Given the description of an element on the screen output the (x, y) to click on. 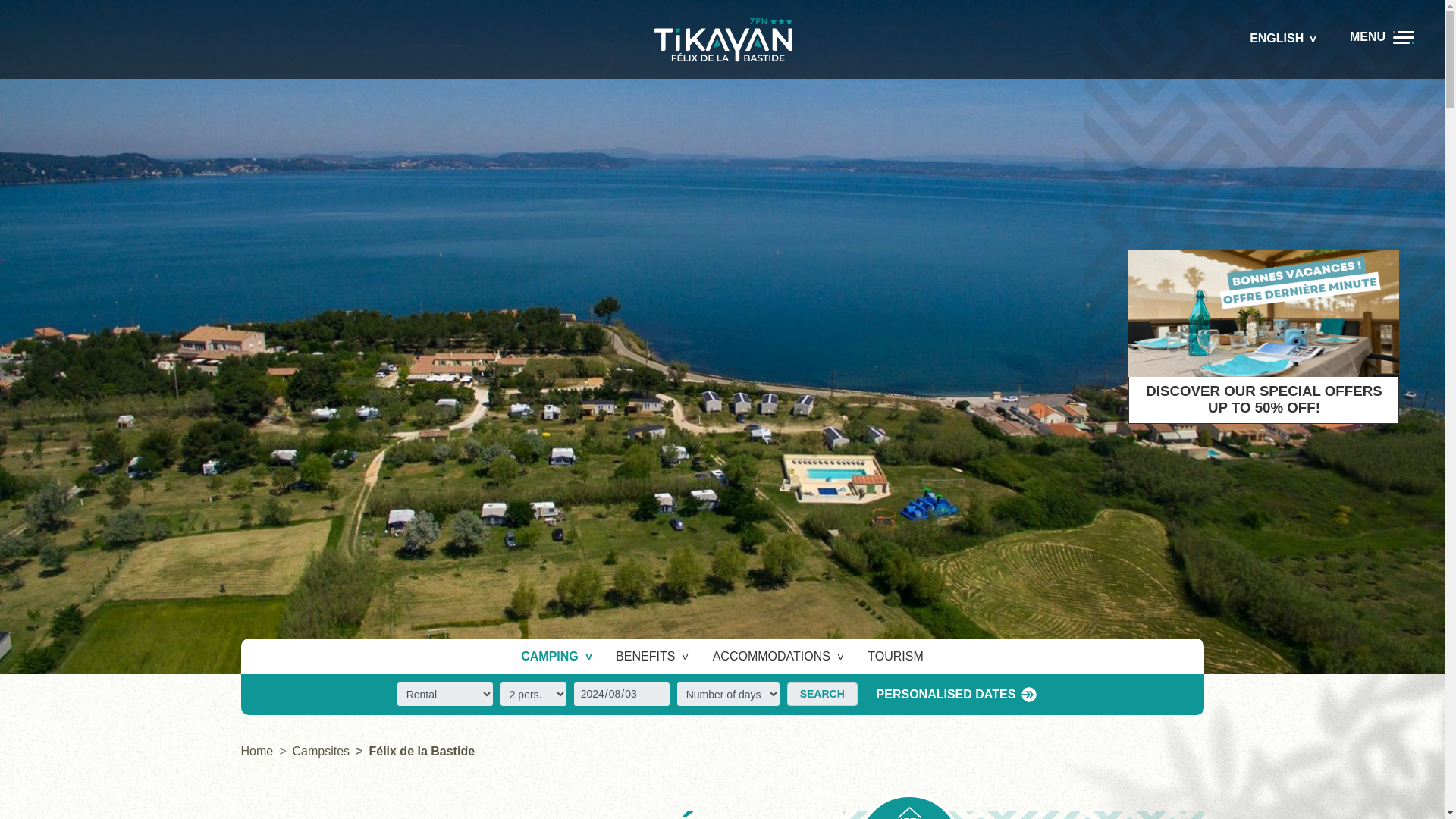
2024-08-03 (621, 693)
